Given the description of an element on the screen output the (x, y) to click on. 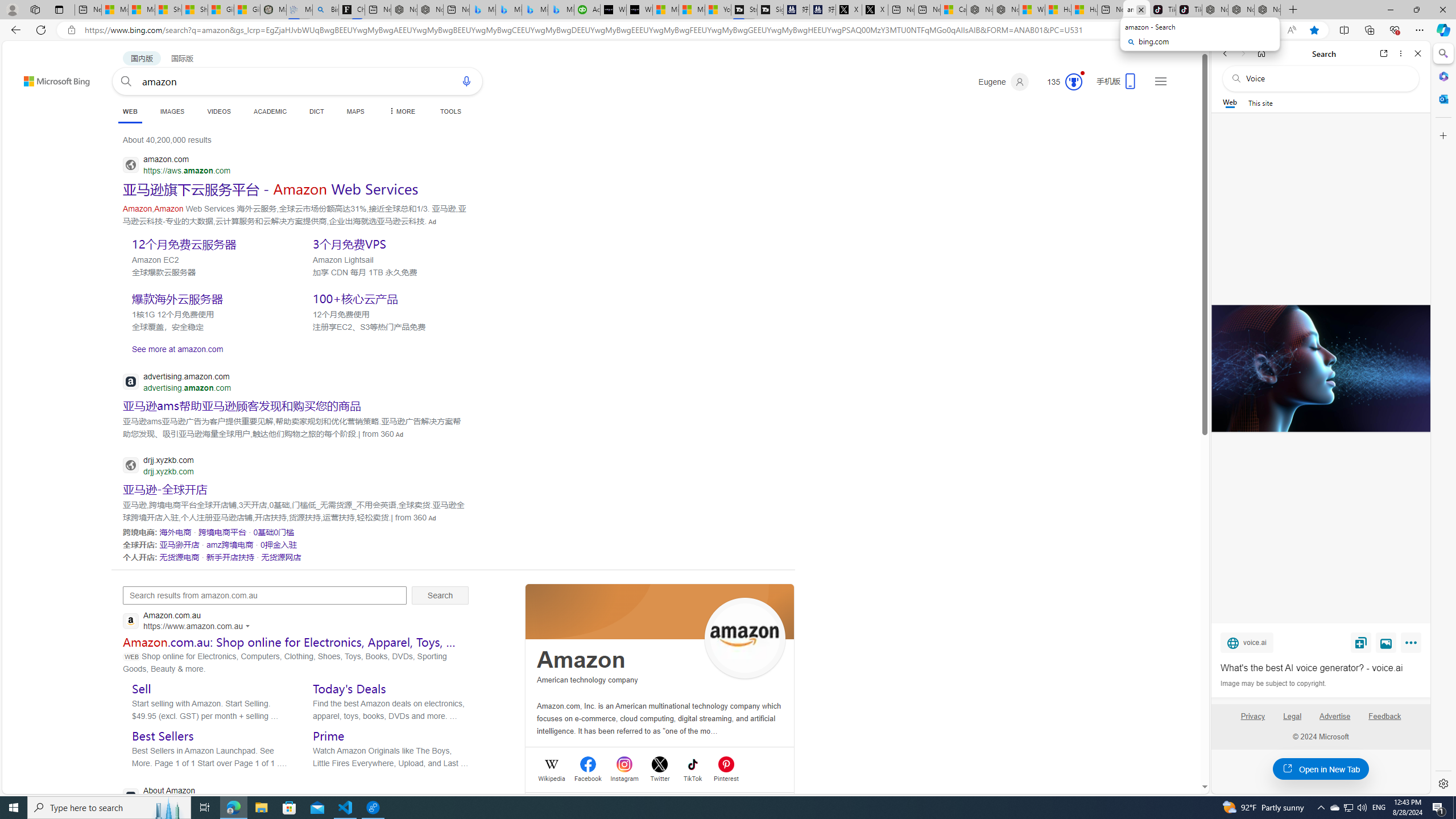
Skip to content (35, 76)
IMAGES (172, 111)
Best Sellers (162, 735)
SERP,5571 (278, 544)
Facebook (587, 777)
Search results from amazon.com.au (264, 594)
Microsoft Bing Travel - Stays in Bangkok, Bangkok, Thailand (508, 9)
